Given the description of an element on the screen output the (x, y) to click on. 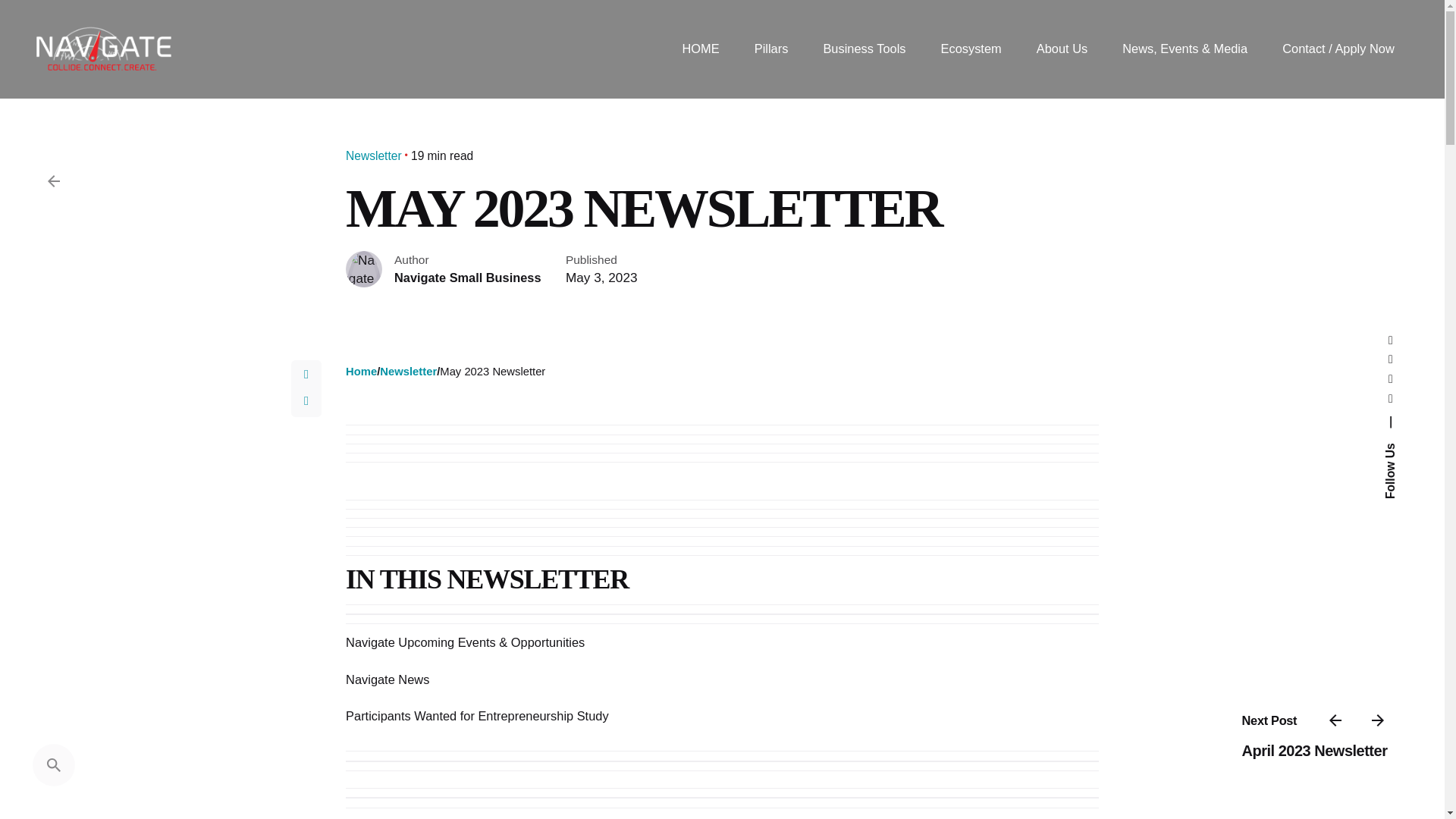
Business Tools (864, 49)
Pillars (771, 49)
Ecosystem (971, 49)
HOME (699, 49)
About Us (1062, 49)
